Given the description of an element on the screen output the (x, y) to click on. 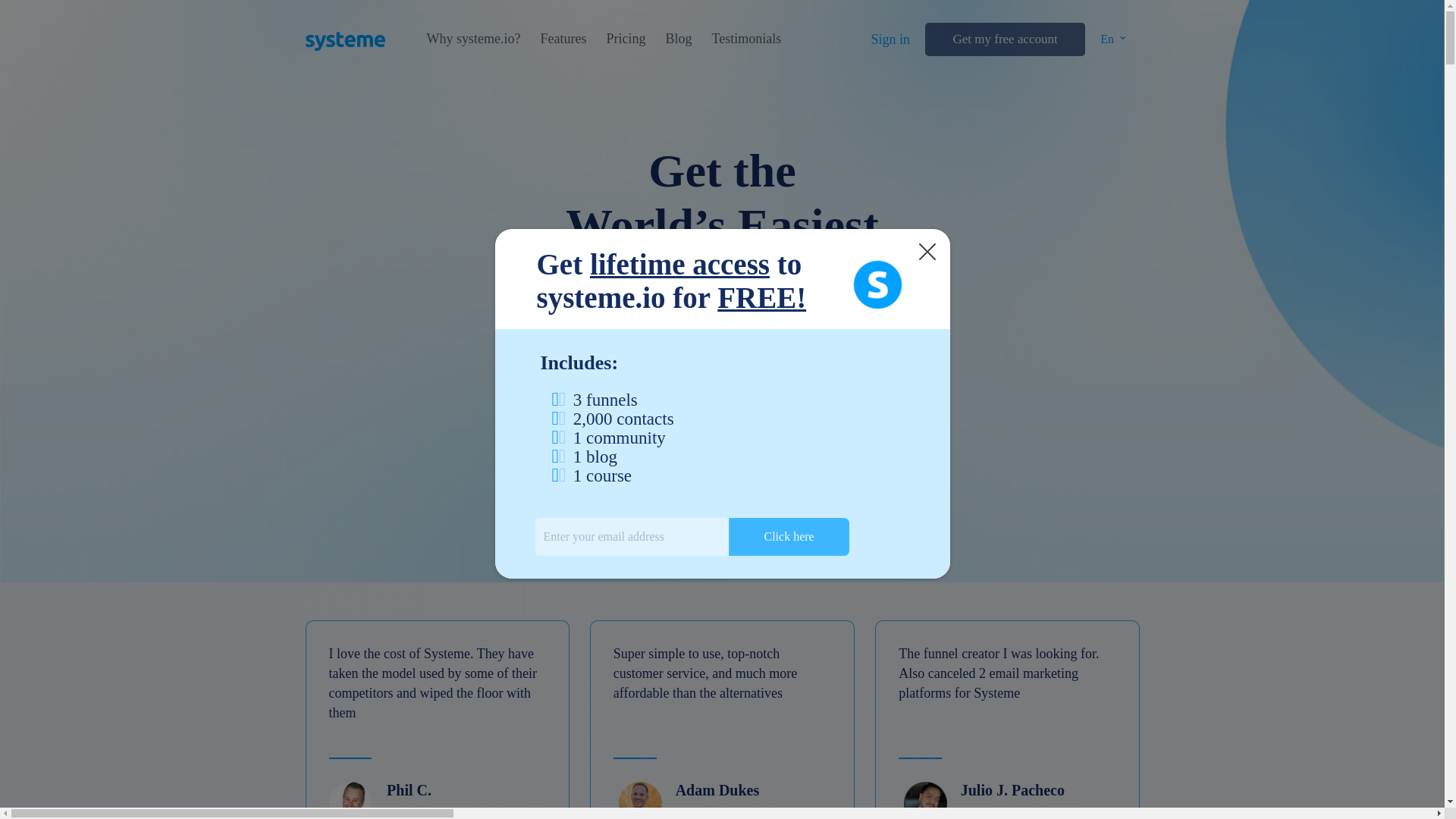
Testimonials (745, 38)
Why systeme.io? (472, 38)
Sign in (890, 39)
Pricing (625, 38)
Blog (678, 38)
Get my free account (1004, 39)
Features (563, 38)
